Given the description of an element on the screen output the (x, y) to click on. 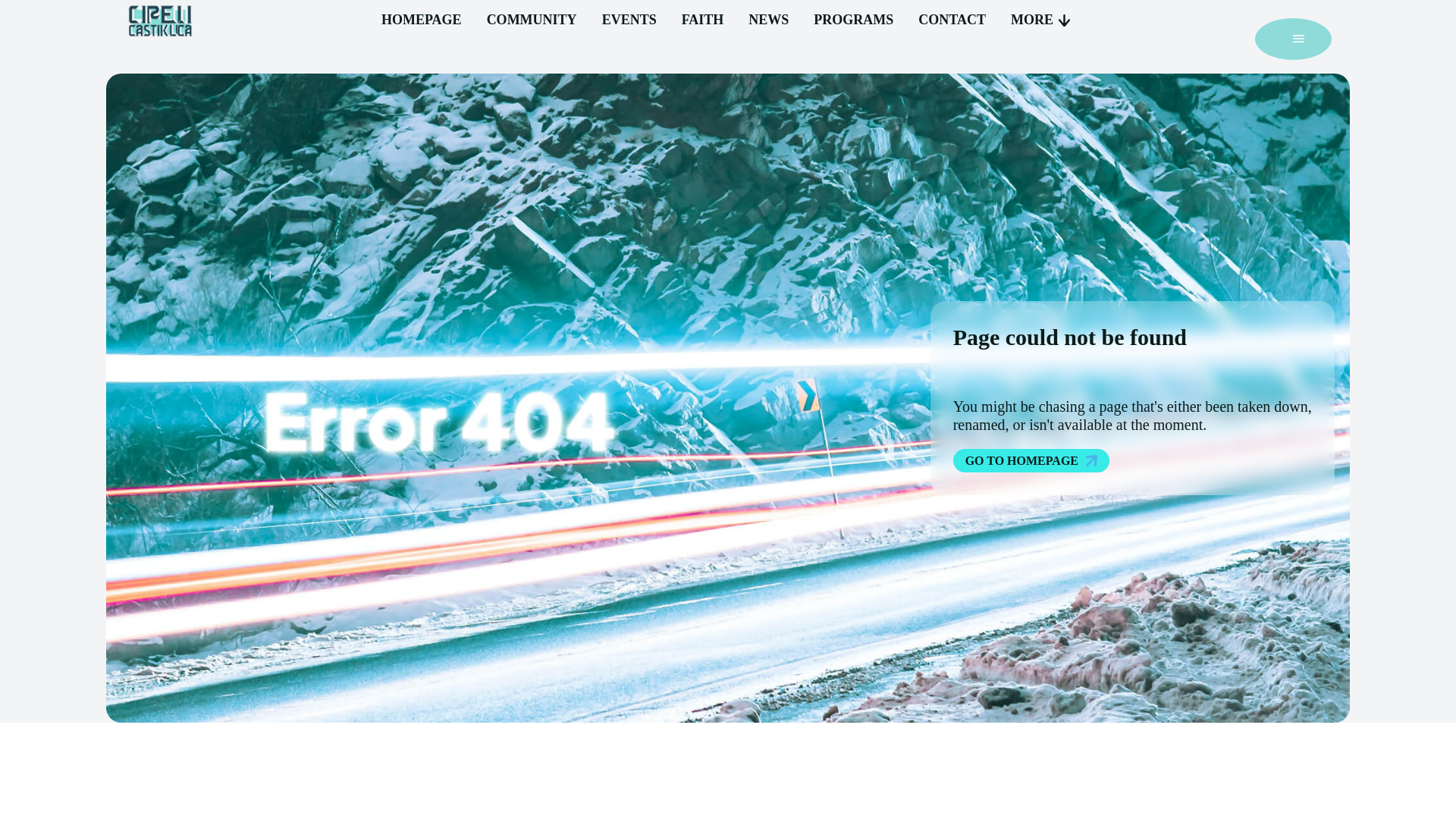
Go to homepage (1031, 460)
